Given the description of an element on the screen output the (x, y) to click on. 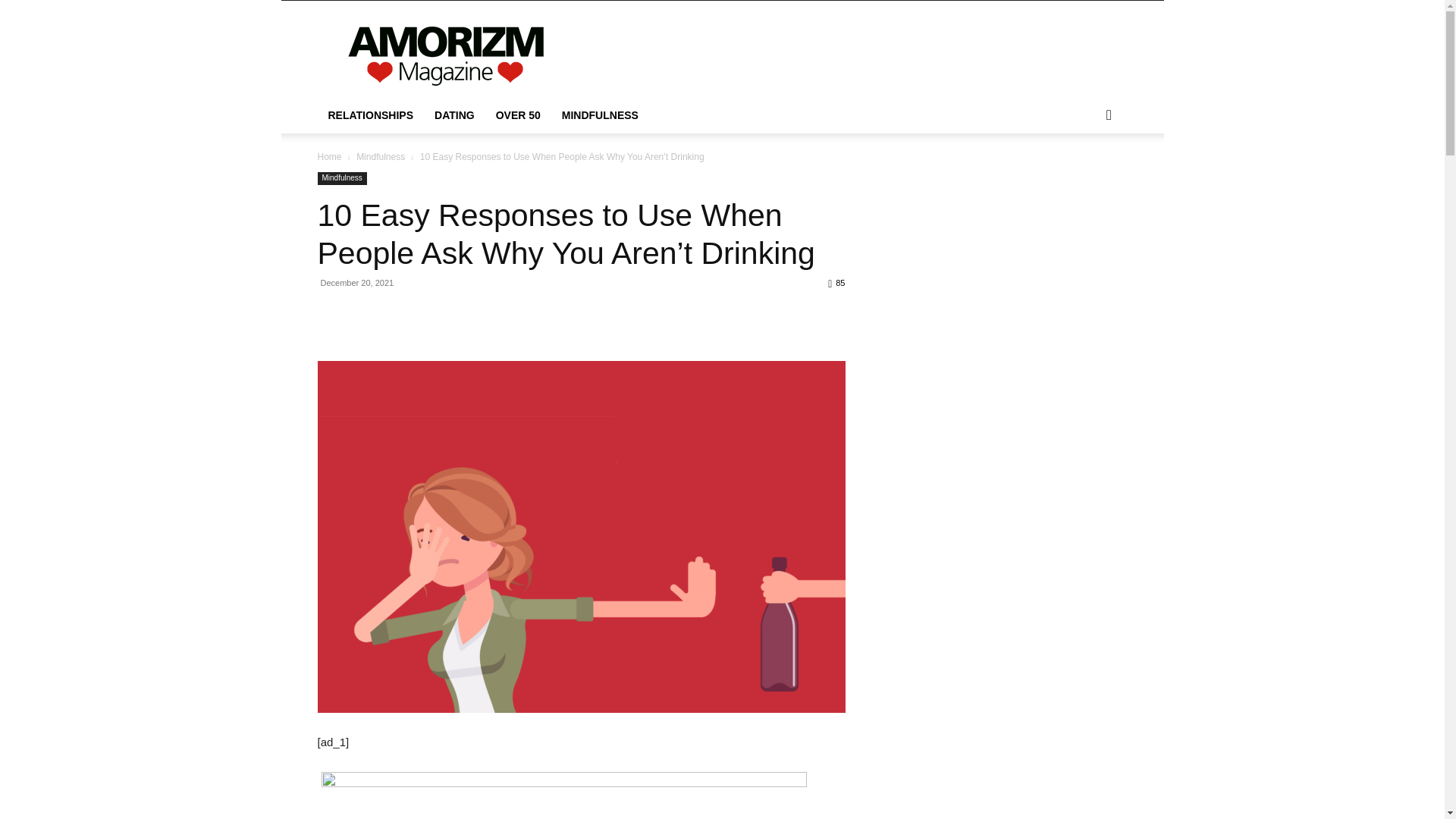
Search (1085, 175)
Home (328, 156)
Mindfulness (380, 156)
DATING (453, 115)
MINDFULNESS (600, 115)
View all posts in Mindfulness (380, 156)
OVER 50 (517, 115)
RELATIONSHIPS (370, 115)
Mindfulness (341, 178)
